Given the description of an element on the screen output the (x, y) to click on. 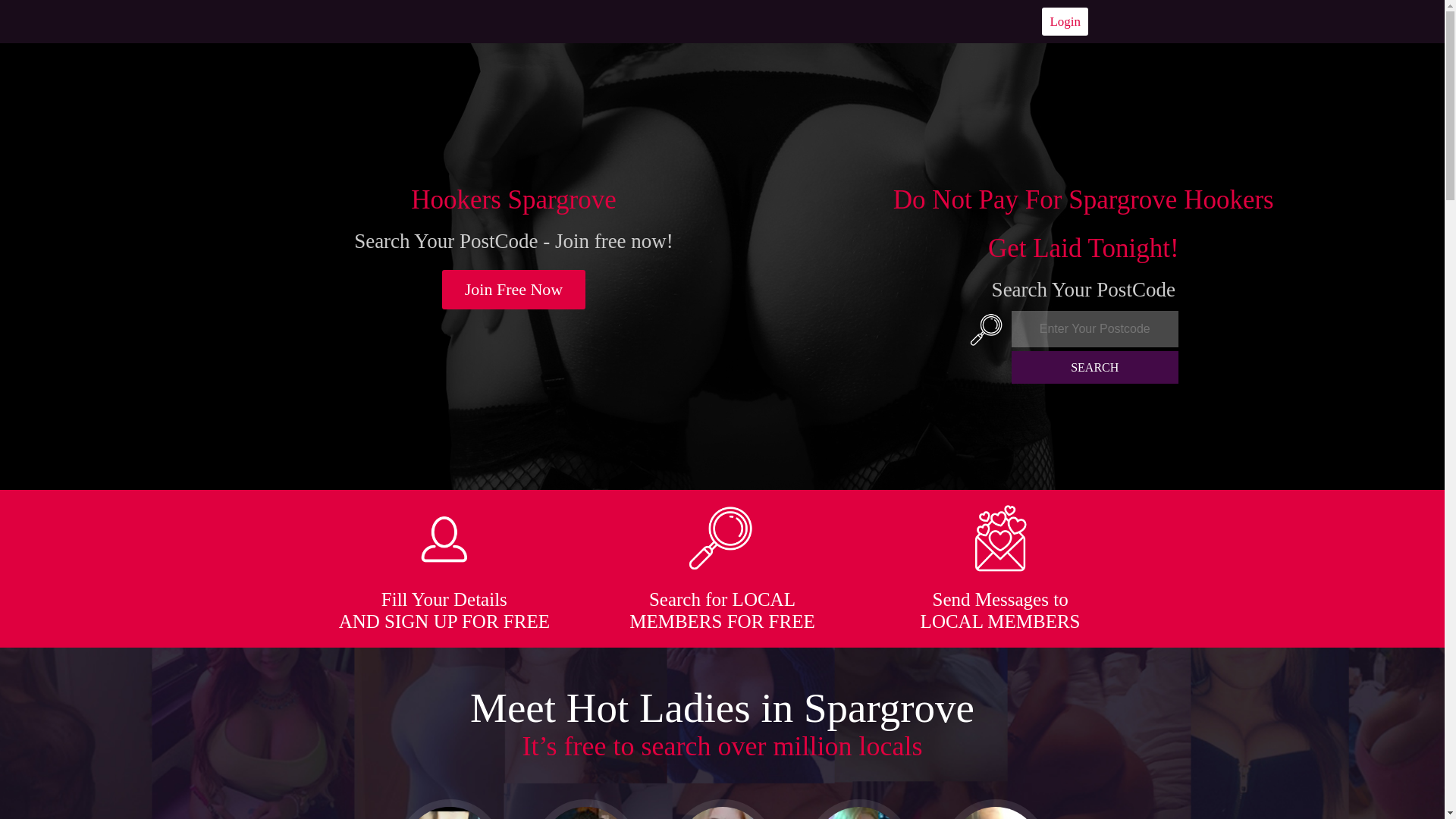
Login (1064, 21)
Login (1064, 21)
Join Free Now (514, 289)
SEARCH (1094, 367)
Join (514, 289)
